Given the description of an element on the screen output the (x, y) to click on. 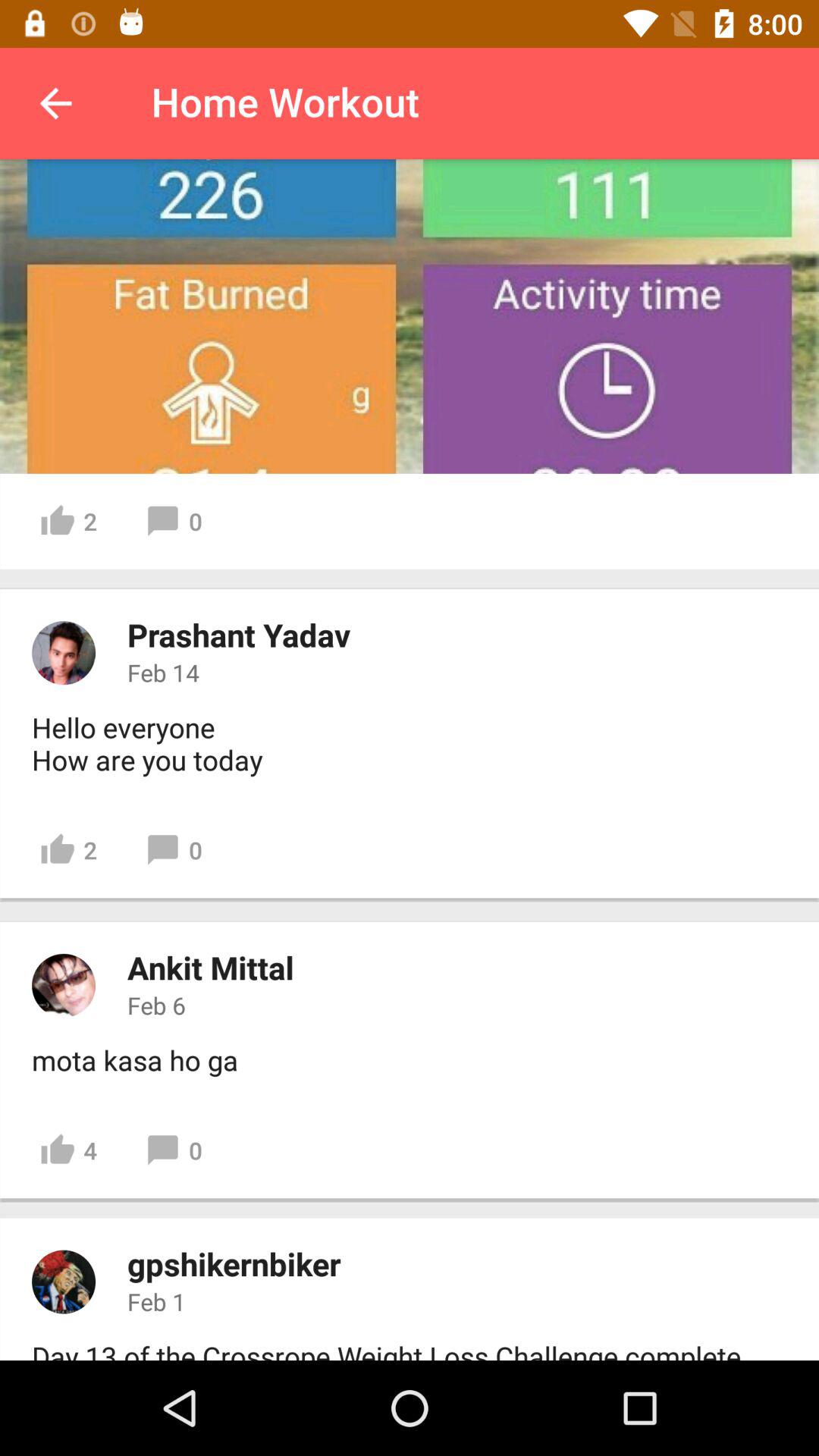
jump to 4 (68, 1150)
